Given the description of an element on the screen output the (x, y) to click on. 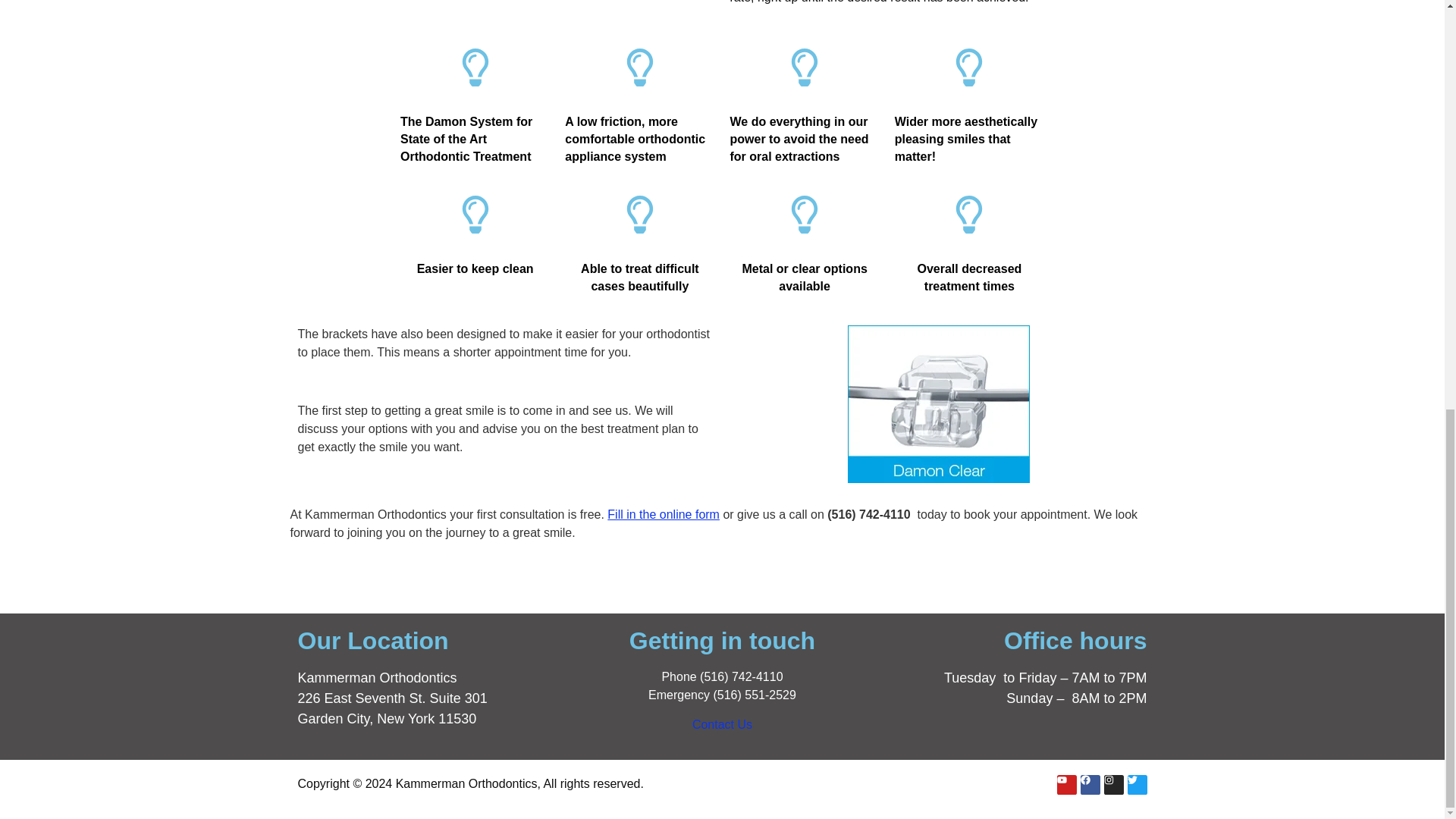
Fill in the online form (663, 513)
Contact Us (722, 724)
